Given the description of an element on the screen output the (x, y) to click on. 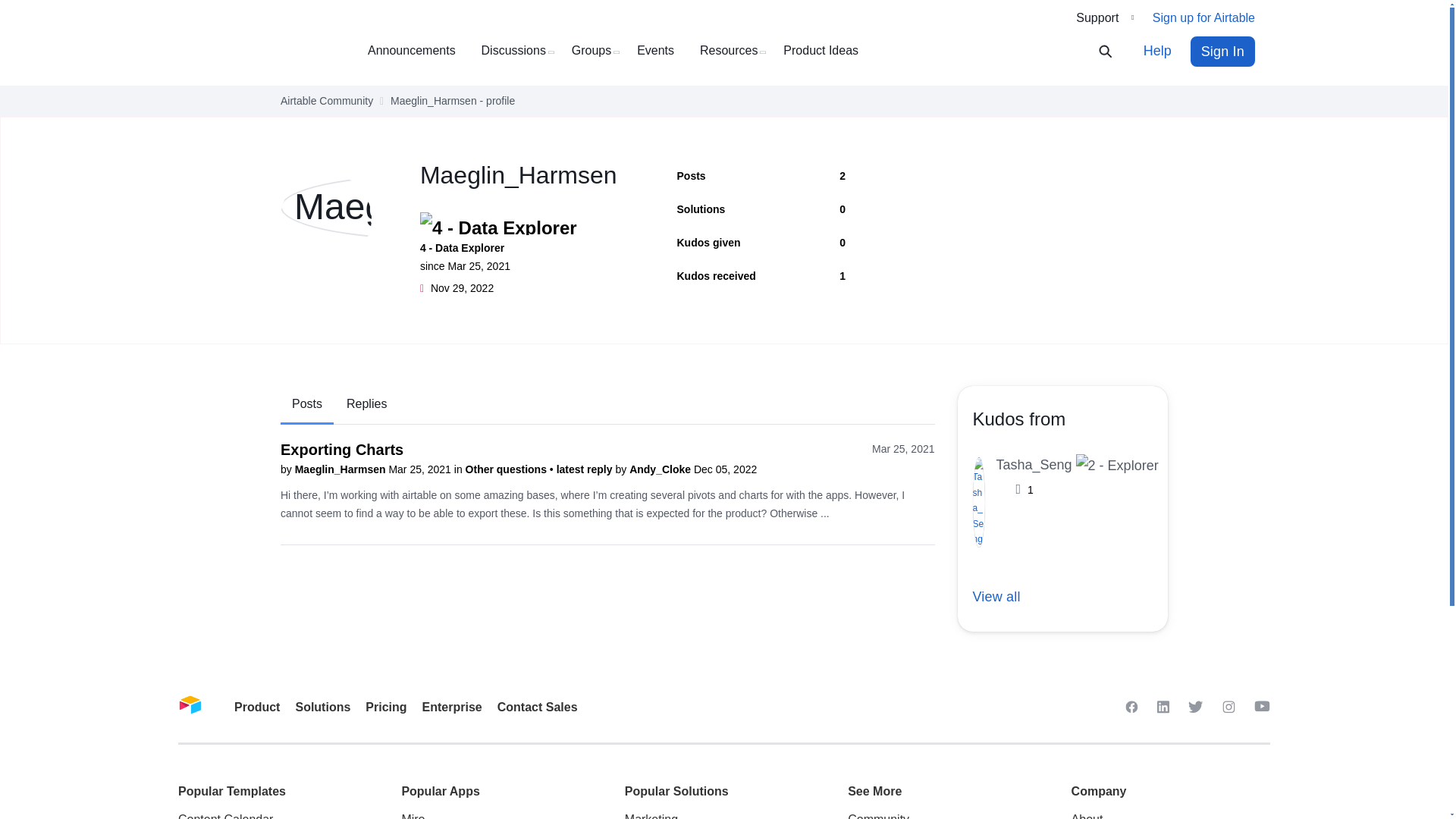
Help (1157, 50)
Search (1114, 51)
Resources (734, 50)
Airtable Community (326, 101)
Support (1104, 17)
Sign up for Airtable (1204, 17)
View profile (341, 469)
Posts (307, 404)
Groups (597, 50)
Replies (365, 404)
